Given the description of an element on the screen output the (x, y) to click on. 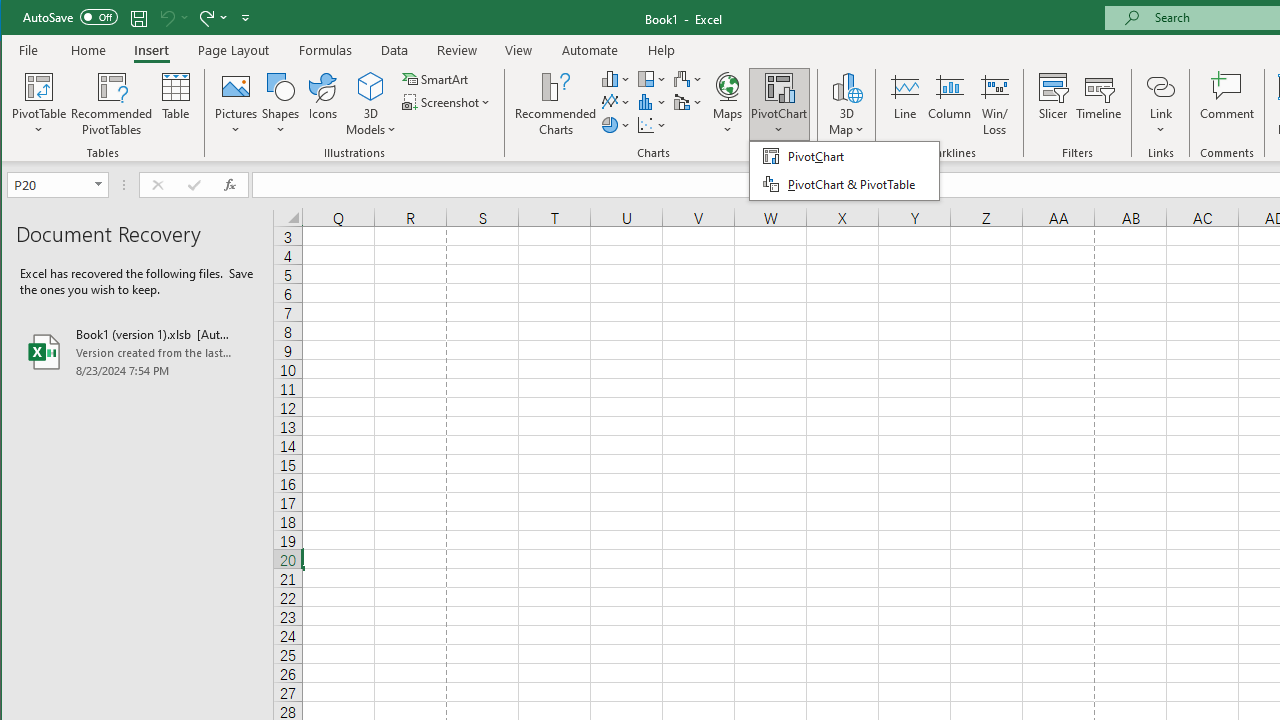
Timeline (1098, 104)
Line (904, 104)
Link (1160, 86)
Insert Scatter (X, Y) or Bubble Chart (652, 124)
Slicer... (1052, 104)
Link (1160, 104)
3D Models (371, 86)
Maps (727, 104)
PivotChart (779, 104)
PivotChart (779, 86)
3D Models (371, 104)
